Given the description of an element on the screen output the (x, y) to click on. 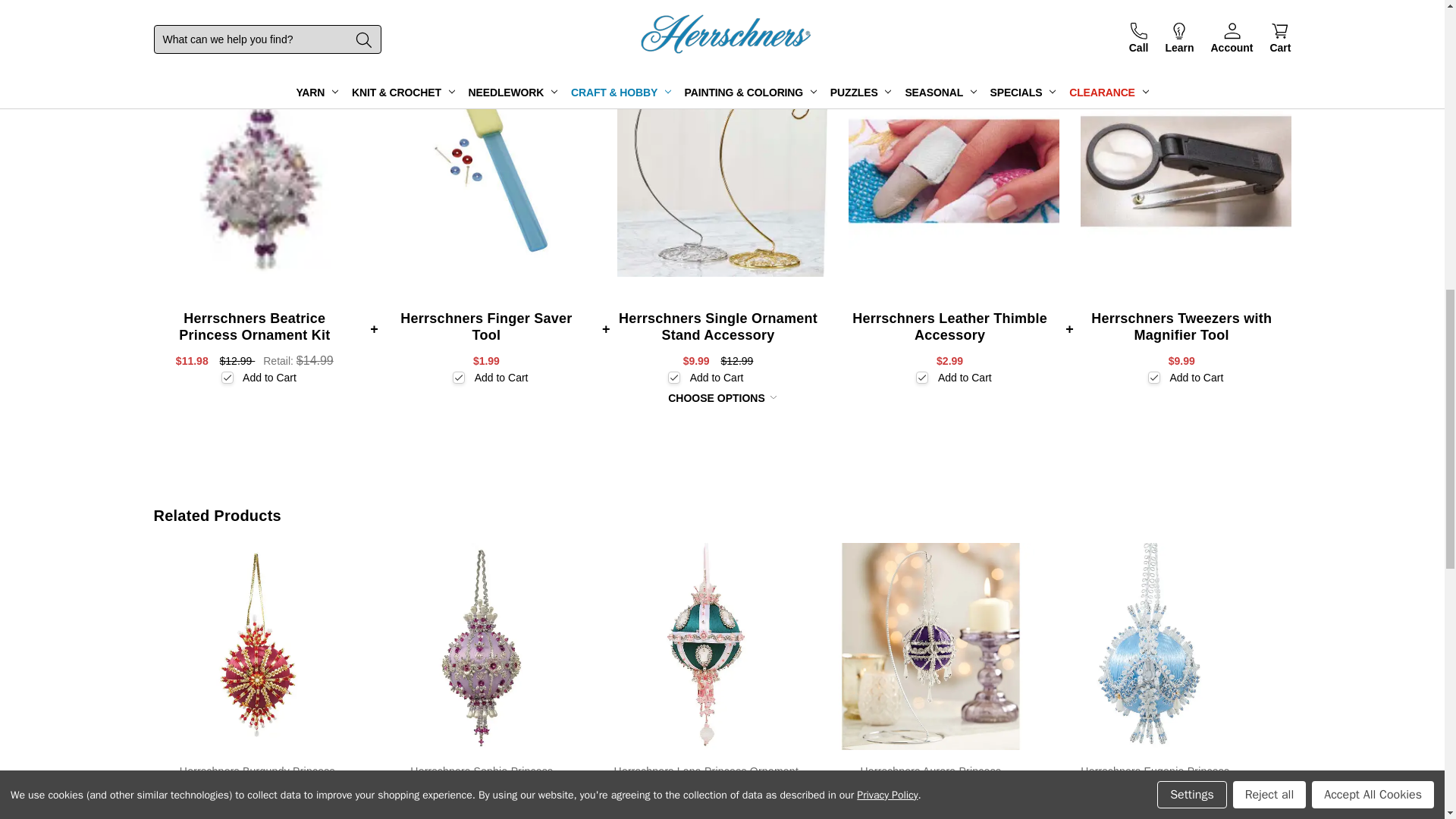
Herrschners Lana Princess Ornament Kit (705, 646)
Herrschners Tweezers with Magnifier Tool (1185, 171)
Herrschners Finger Saver Tool (490, 171)
Herrschners Sophia Princess Ornament Kit (481, 646)
Herrschners Single Ornament Stand Accessory (722, 171)
Herrschners Leather Thimble Accessory (953, 171)
Herrschners Burgundy Princess Ornament Kit (256, 646)
Herrschners Beatrice Princess Ornament Kit (258, 171)
